Given the description of an element on the screen output the (x, y) to click on. 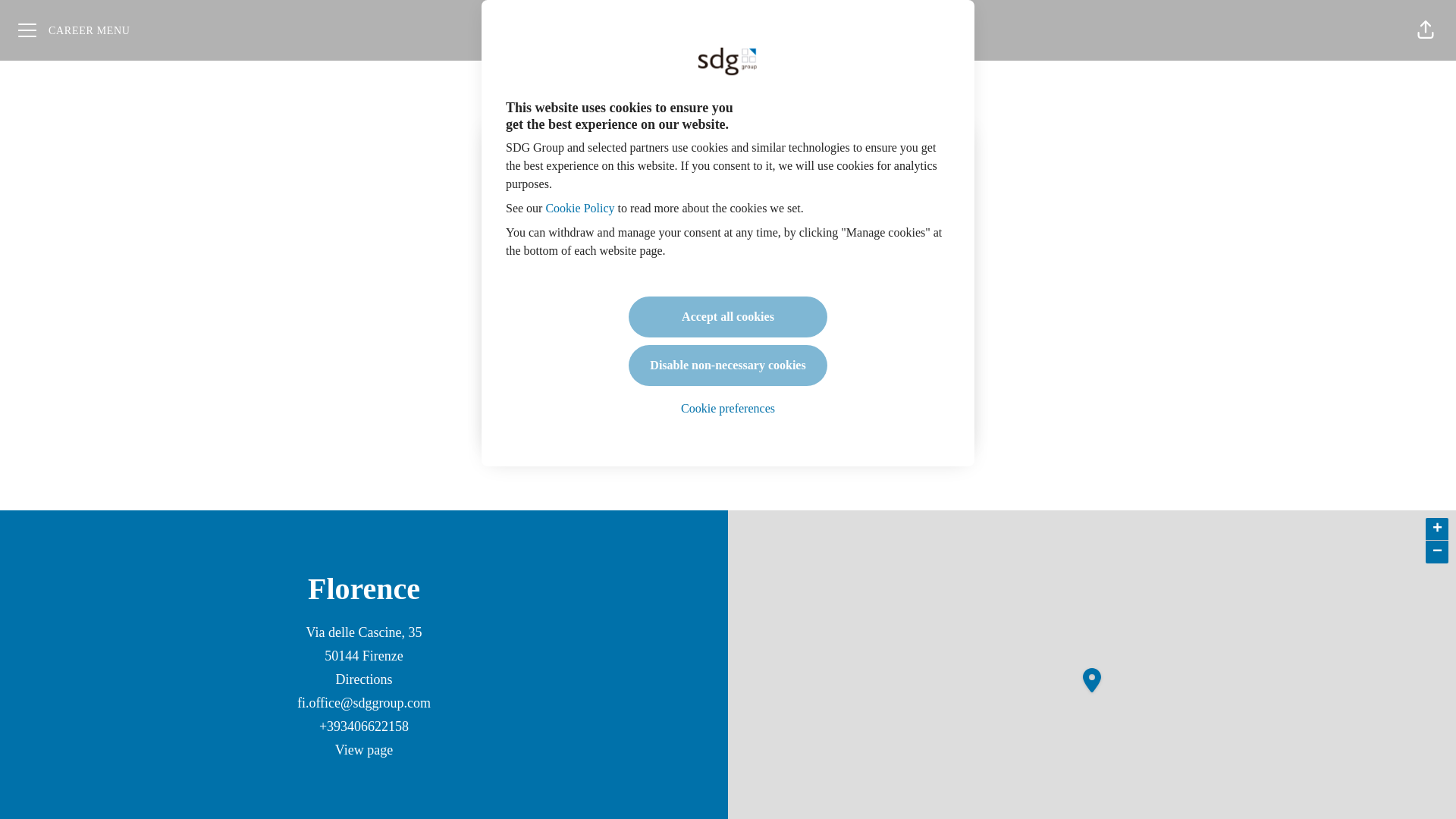
CAREER MENU (73, 30)
Disable non-necessary cookies (727, 364)
View page (363, 750)
Cookie preferences (727, 408)
Zoom in (1436, 528)
Accept all cookies (727, 316)
Career menu (73, 30)
Directions (362, 679)
Cookie Policy (579, 207)
Zoom out (1436, 551)
Share page (1426, 30)
